Given the description of an element on the screen output the (x, y) to click on. 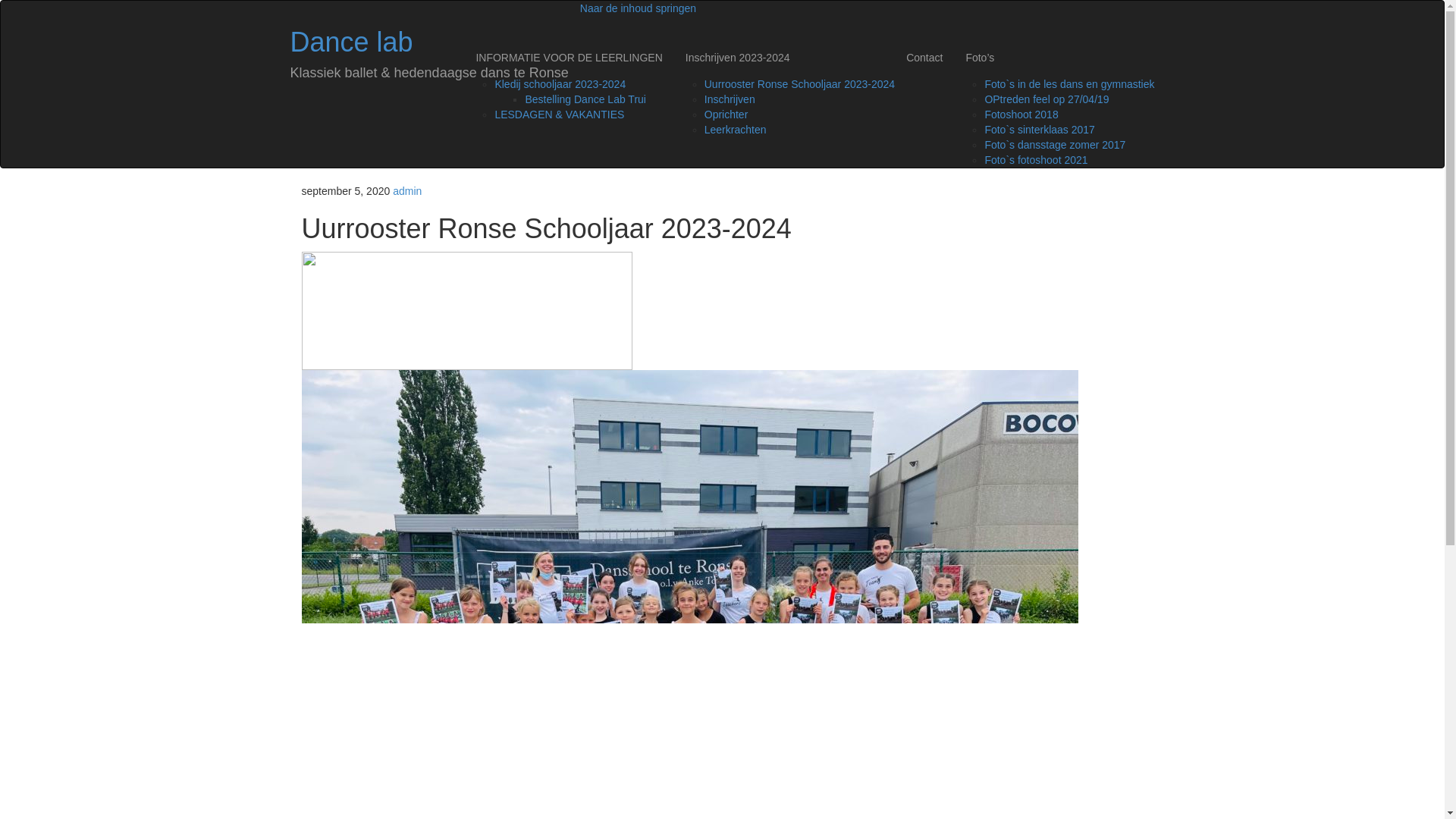
Foto`s sinterklaas 2017 Element type: text (1039, 129)
OPtreden feel op 27/04/19 Element type: text (1046, 99)
Fotoshoot 2018 Element type: text (1020, 114)
Leerkrachten Element type: text (735, 129)
Uurrooster Ronse Schooljaar 2023-2024 Element type: text (799, 84)
Inschrijven 2023-2024 Element type: text (784, 57)
Contact Element type: text (923, 57)
Foto`s fotoshoot 2021 Element type: text (1035, 159)
Oprichter Element type: text (726, 114)
Kledij schooljaar 2023-2024 Element type: text (559, 84)
LESDAGEN & VAKANTIES Element type: text (559, 114)
Bestelling Dance Lab Trui Element type: text (585, 99)
Inschrijven Element type: text (729, 99)
admin Element type: text (406, 191)
Foto`s in de les dans en gymnastiek Element type: text (1069, 84)
Foto`s dansstage zomer 2017 Element type: text (1054, 144)
Dance lab Element type: text (350, 41)
INFORMATIE VOOR DE LEERLINGEN Element type: text (568, 57)
Naar de inhoud springen Element type: text (638, 8)
